Given the description of an element on the screen output the (x, y) to click on. 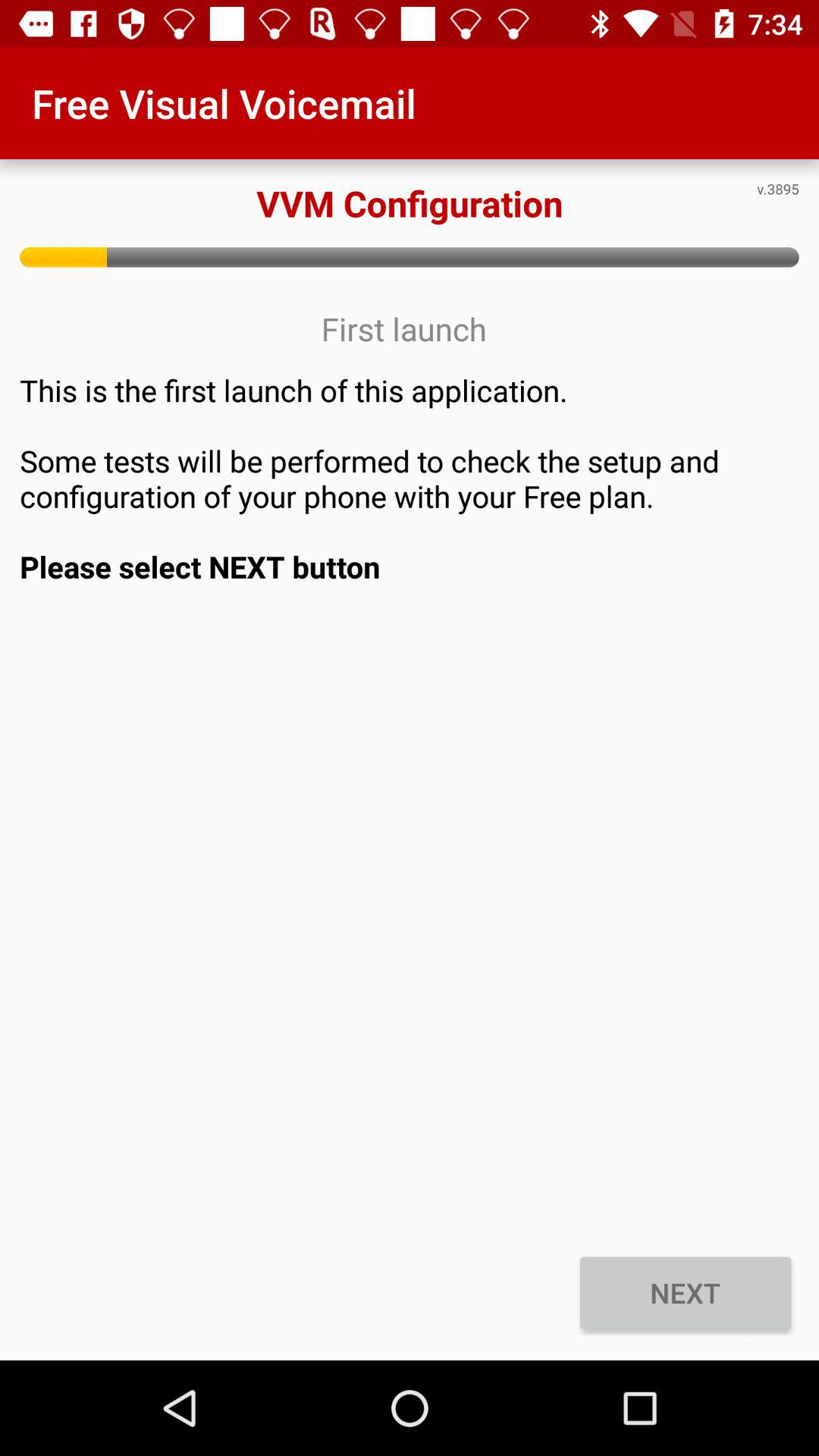
flip until next (685, 1292)
